Given the description of an element on the screen output the (x, y) to click on. 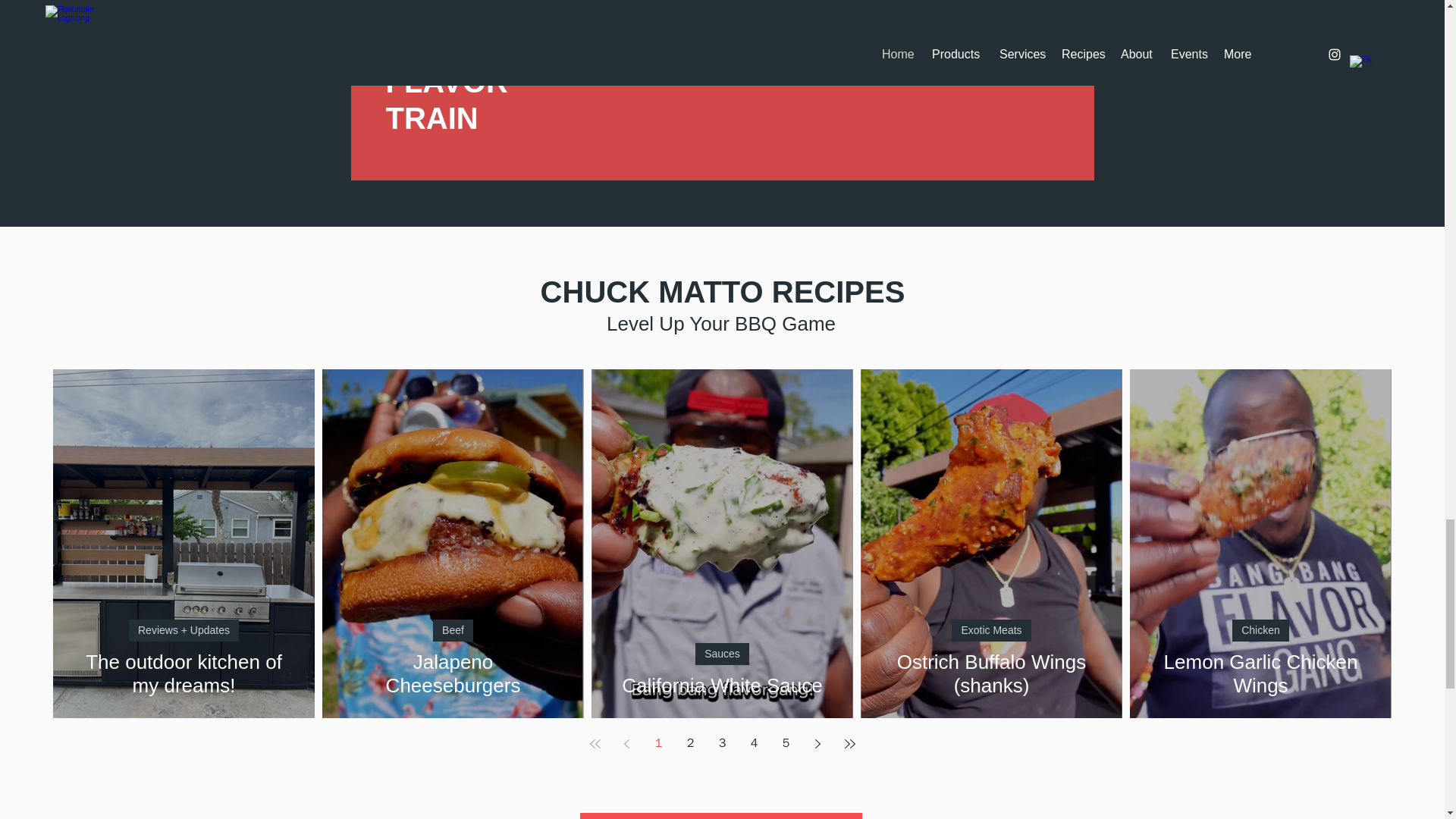
Jalapeno Cheeseburgers (452, 673)
Beef (452, 630)
The outdoor kitchen of my dreams! (183, 673)
Sign Up (971, 55)
